Given the description of an element on the screen output the (x, y) to click on. 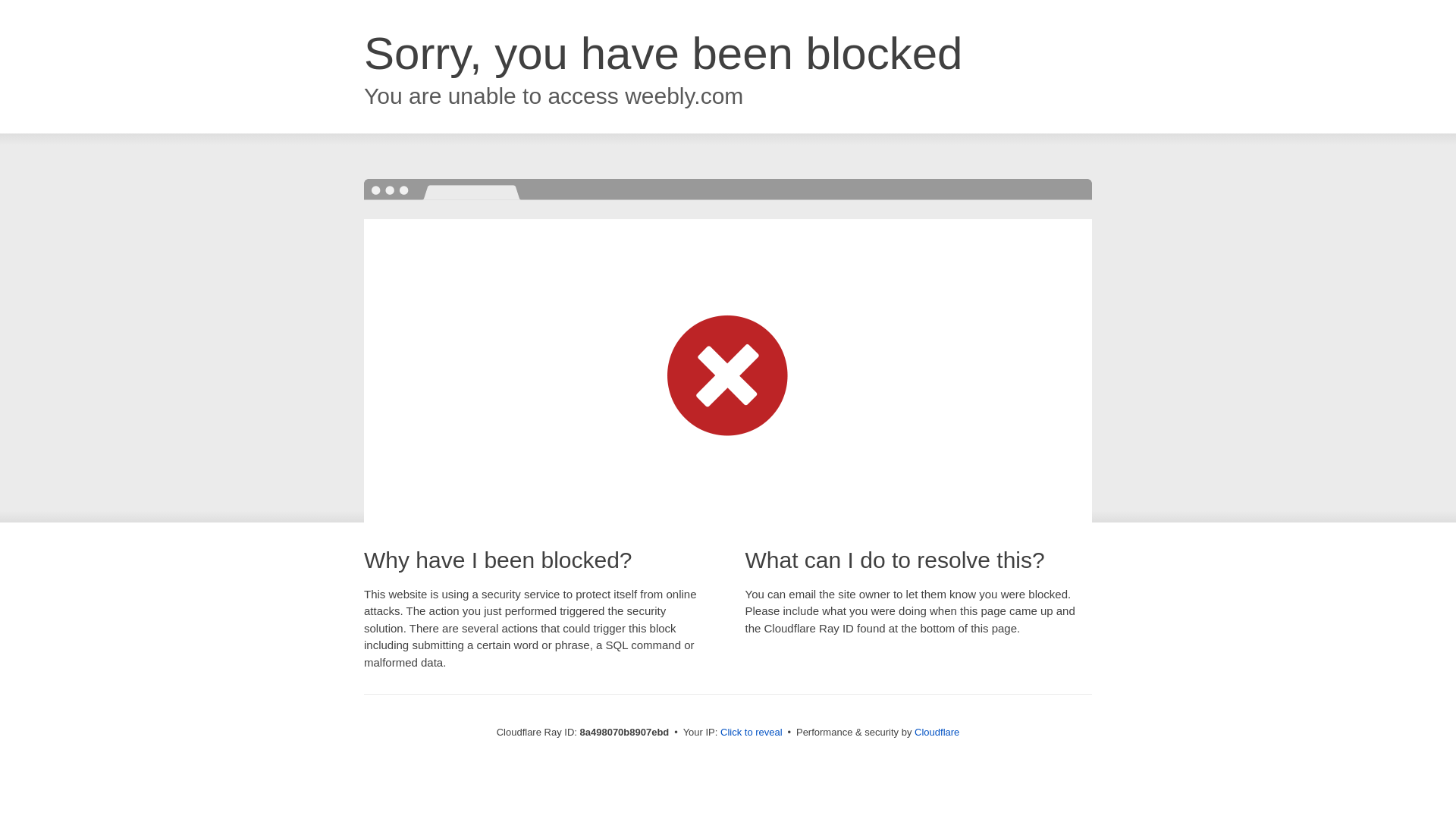
Cloudflare (936, 731)
Click to reveal (751, 732)
